Given the description of an element on the screen output the (x, y) to click on. 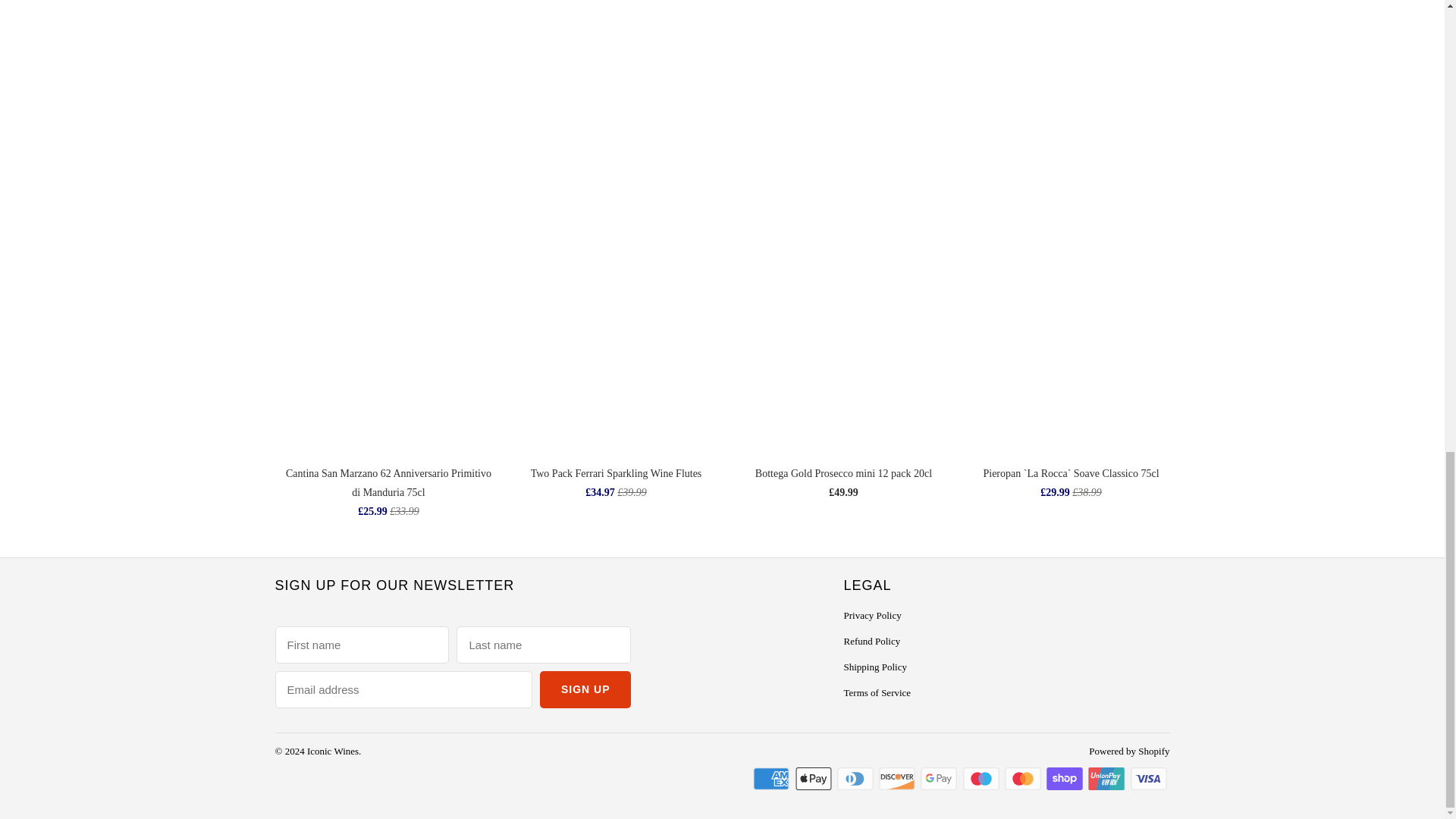
Apple Pay (814, 778)
Shop Pay (1066, 778)
Discover (898, 778)
Diners Club (856, 778)
Maestro (982, 778)
Union Pay (1106, 778)
Visa (1149, 778)
Mastercard (1023, 778)
Sign Up (585, 689)
American Express (772, 778)
